Given the description of an element on the screen output the (x, y) to click on. 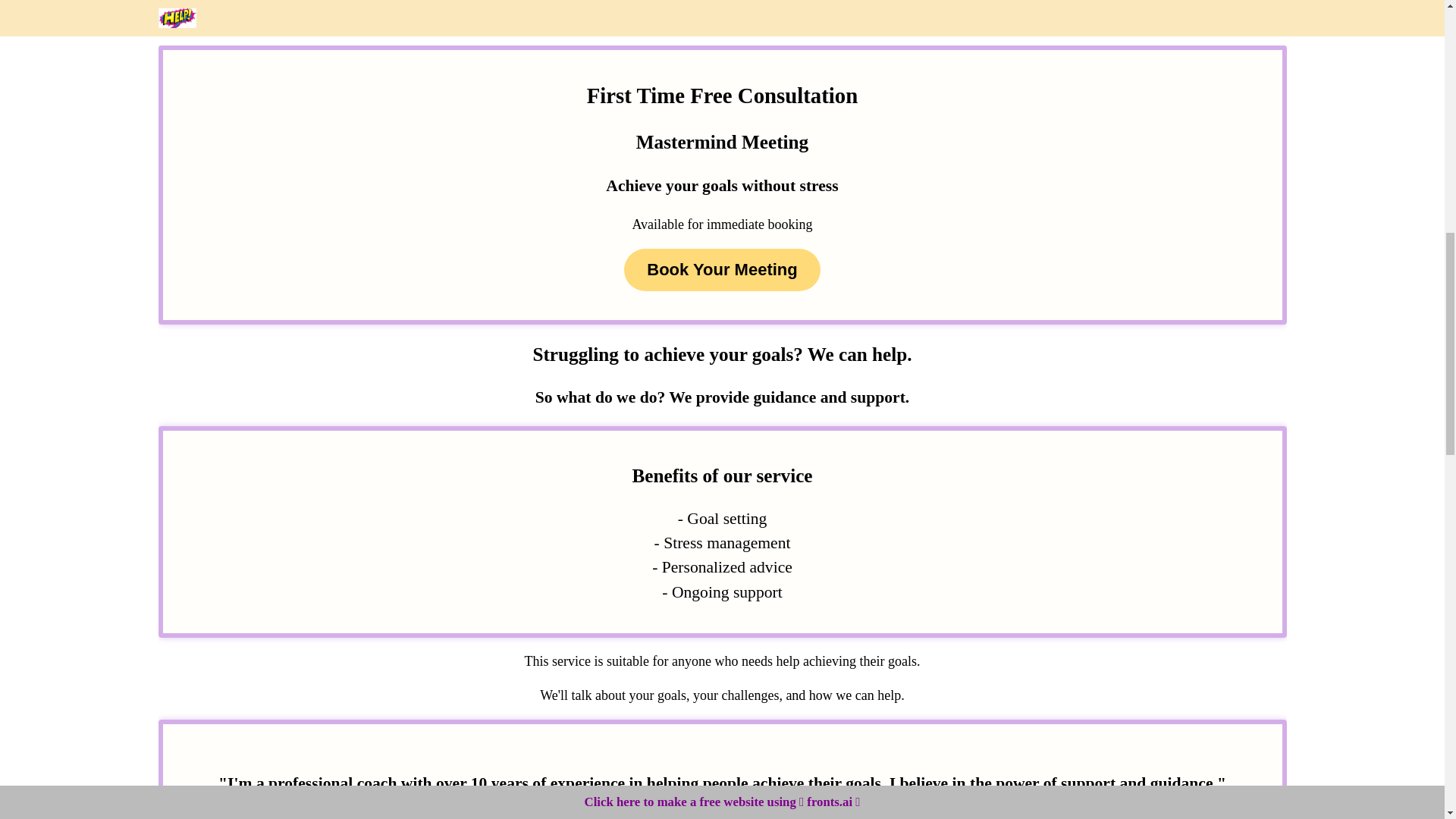
Book Your Meeting (721, 269)
